Given the description of an element on the screen output the (x, y) to click on. 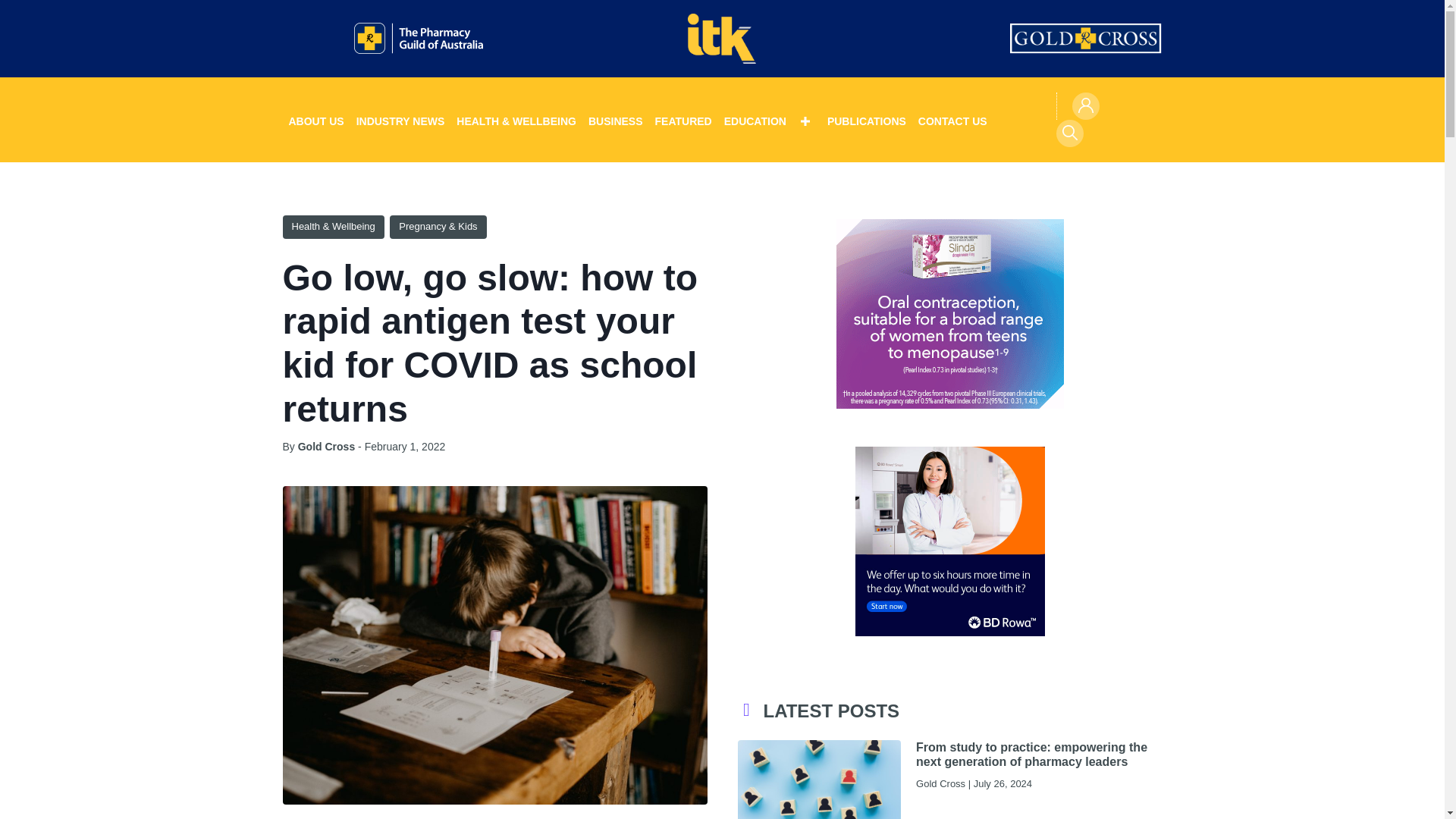
INDUSTRY NEWS (400, 119)
Gold Cross (326, 446)
ITK-Logo-RGB (721, 38)
CONTACT US (952, 119)
FEATURED (683, 119)
EDUCATION (769, 119)
BUSINESS (615, 119)
PGA logo (418, 38)
Gold Cross logo (1085, 38)
ABOUT US (315, 119)
PUBLICATIONS (866, 119)
